Given the description of an element on the screen output the (x, y) to click on. 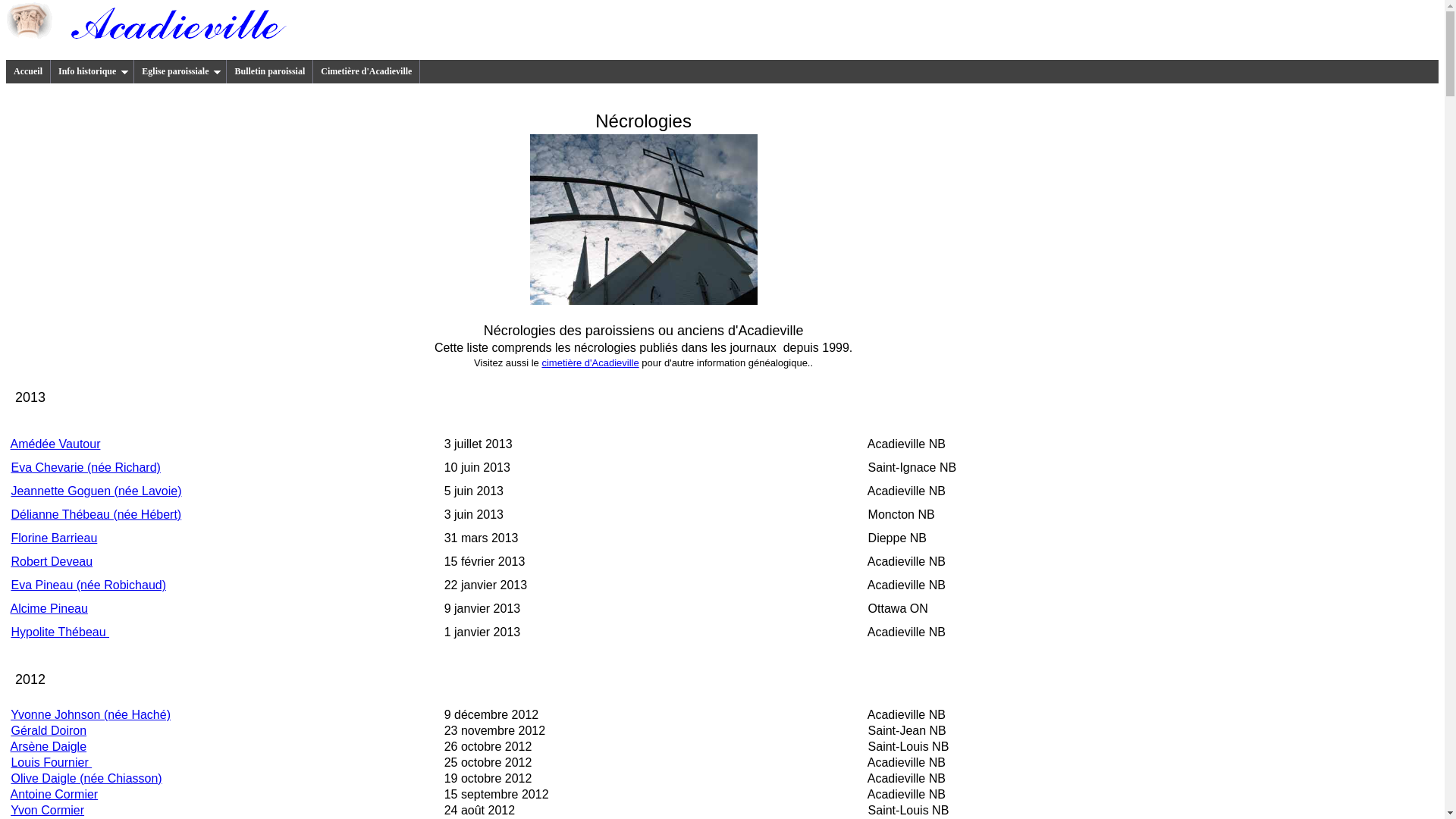
Yvon Cormier Element type: text (47, 809)
Florine Barrieau Element type: text (53, 537)
Eglise paroissiale Element type: text (180, 71)
Louis Fournier  Element type: text (50, 762)
Accueil Element type: text (28, 71)
Alcime Pineau Element type: text (48, 608)
Info historique Element type: text (92, 71)
Antoine Cormier Element type: text (54, 793)
Bulletin paroissial Element type: text (269, 71)
Robert Deveau Element type: text (51, 561)
